Given the description of an element on the screen output the (x, y) to click on. 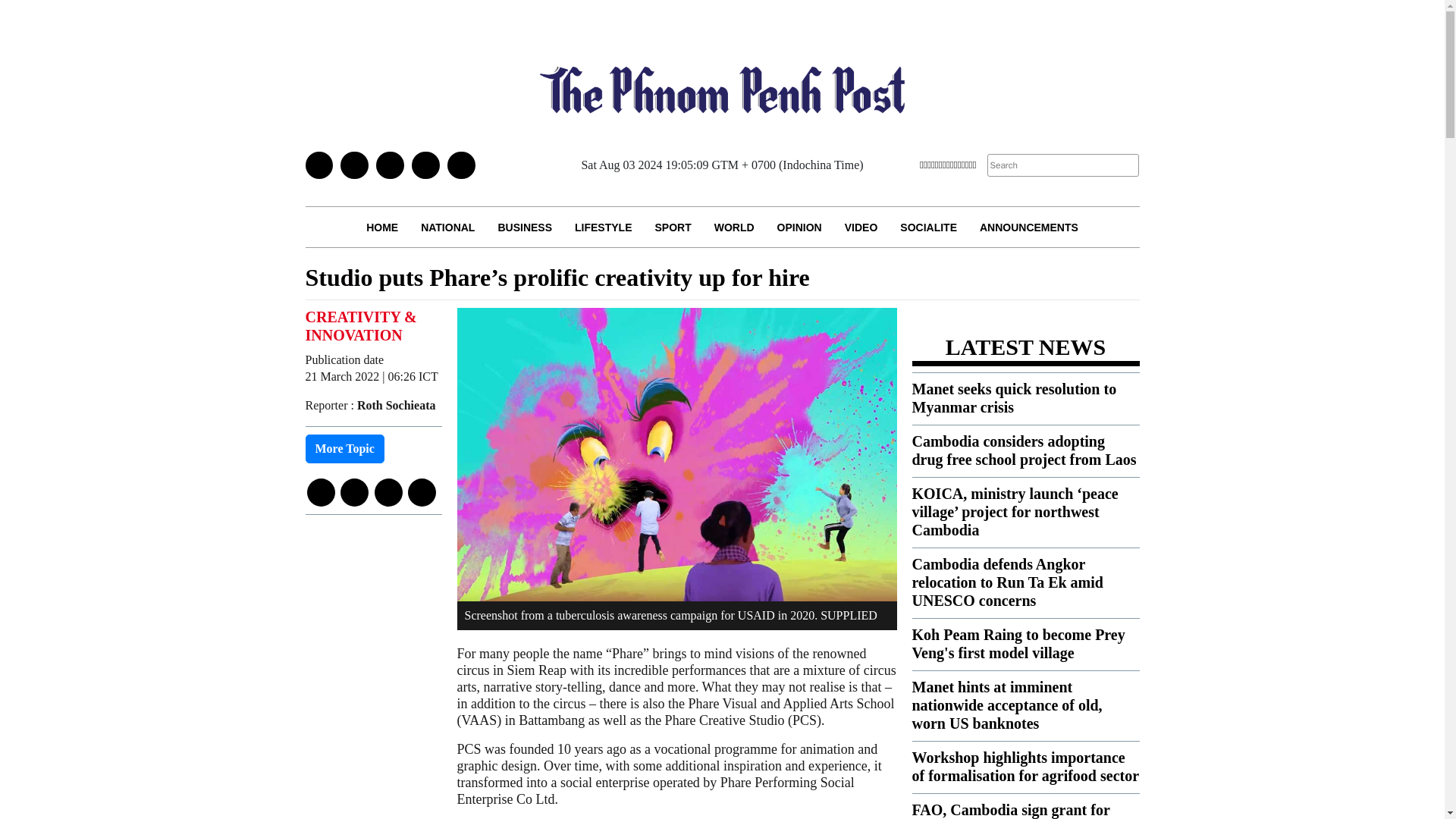
Manet seeks quick resolution to Myanmar crisis (1013, 397)
HOME (382, 227)
Koh Peam Raing to become Prey Veng's first model village (1017, 643)
SPORT (672, 227)
VIDEO (860, 227)
BUSINESS (524, 227)
ANNOUNCEMENTS (1028, 227)
FAO, Cambodia sign grant for pandemic preparedness (1010, 810)
SOCIALITE (928, 227)
OPINION (798, 227)
NATIONAL (447, 227)
WORLD (734, 227)
